Given the description of an element on the screen output the (x, y) to click on. 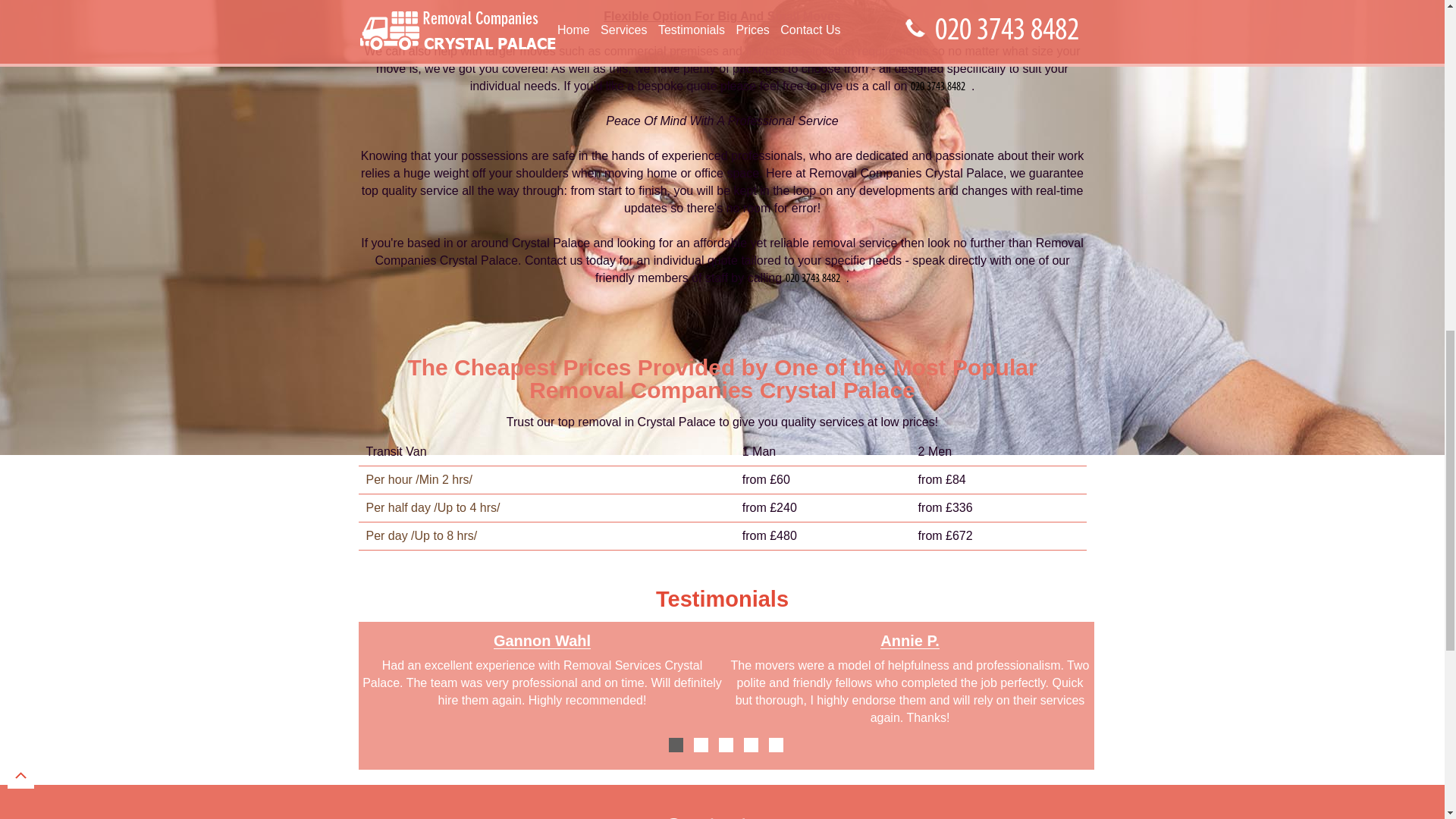
Call Now! (941, 85)
Call Now! (815, 277)
